Given the description of an element on the screen output the (x, y) to click on. 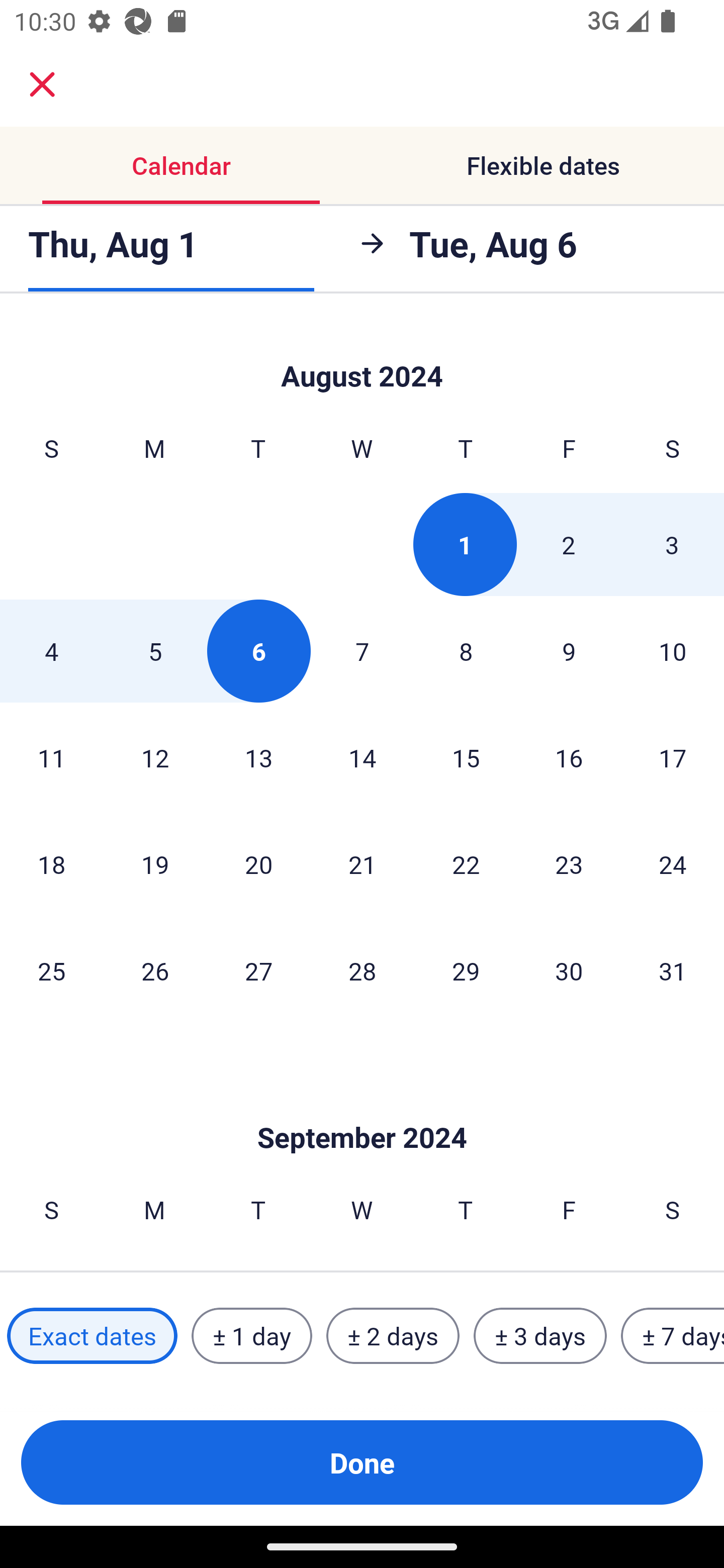
close. (42, 84)
Flexible dates (542, 164)
Skip to Done (362, 354)
7 Wednesday, August 7, 2024 (362, 650)
8 Thursday, August 8, 2024 (465, 650)
9 Friday, August 9, 2024 (569, 650)
10 Saturday, August 10, 2024 (672, 650)
11 Sunday, August 11, 2024 (51, 757)
12 Monday, August 12, 2024 (155, 757)
13 Tuesday, August 13, 2024 (258, 757)
14 Wednesday, August 14, 2024 (362, 757)
15 Thursday, August 15, 2024 (465, 757)
16 Friday, August 16, 2024 (569, 757)
17 Saturday, August 17, 2024 (672, 757)
18 Sunday, August 18, 2024 (51, 863)
19 Monday, August 19, 2024 (155, 863)
20 Tuesday, August 20, 2024 (258, 863)
21 Wednesday, August 21, 2024 (362, 863)
22 Thursday, August 22, 2024 (465, 863)
23 Friday, August 23, 2024 (569, 863)
24 Saturday, August 24, 2024 (672, 863)
25 Sunday, August 25, 2024 (51, 970)
26 Monday, August 26, 2024 (155, 970)
27 Tuesday, August 27, 2024 (258, 970)
28 Wednesday, August 28, 2024 (362, 970)
29 Thursday, August 29, 2024 (465, 970)
30 Friday, August 30, 2024 (569, 970)
31 Saturday, August 31, 2024 (672, 970)
Skip to Done (362, 1106)
Exact dates (92, 1335)
± 1 day (251, 1335)
± 2 days (392, 1335)
± 3 days (539, 1335)
± 7 days (672, 1335)
Done (361, 1462)
